Given the description of an element on the screen output the (x, y) to click on. 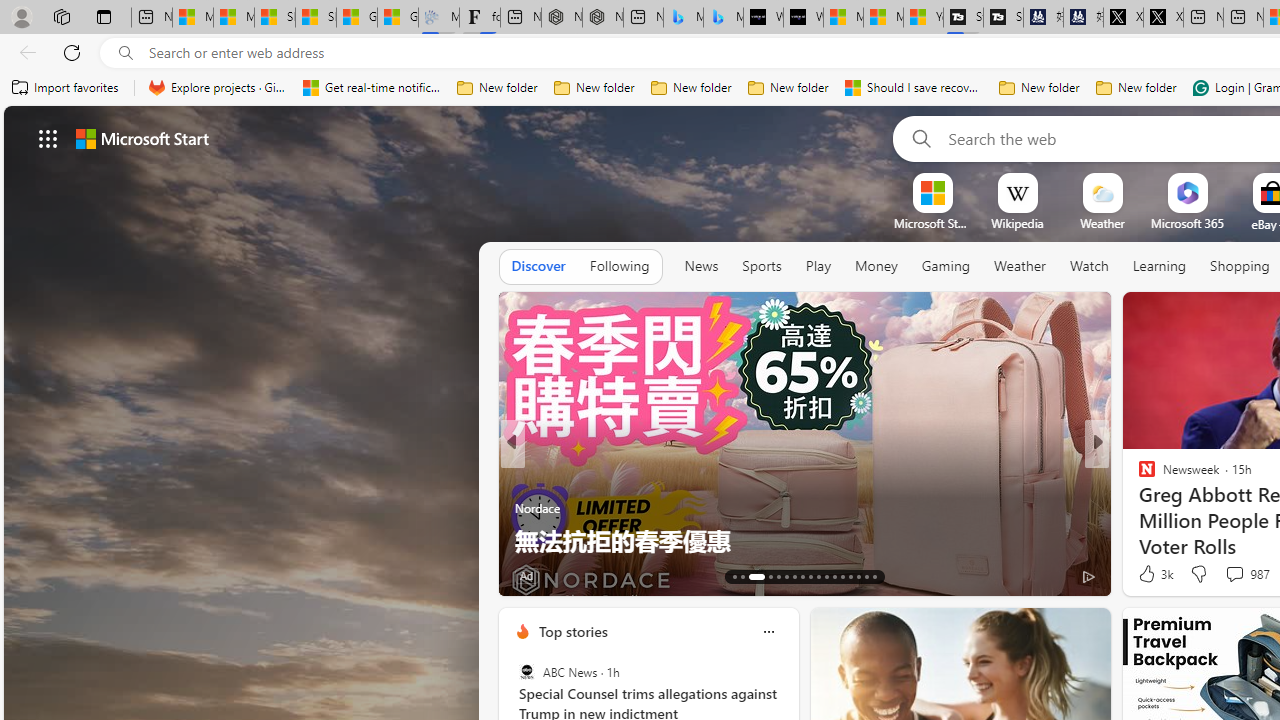
View comments 17 Comment (1234, 575)
View comments 987 Comment (1234, 573)
Microsoft start (142, 138)
55 Like (532, 574)
AutomationID: waffle (47, 138)
View comments 52 Comment (1237, 574)
View comments 22 Comment (1244, 574)
AutomationID: tab-23 (825, 576)
